Given the description of an element on the screen output the (x, y) to click on. 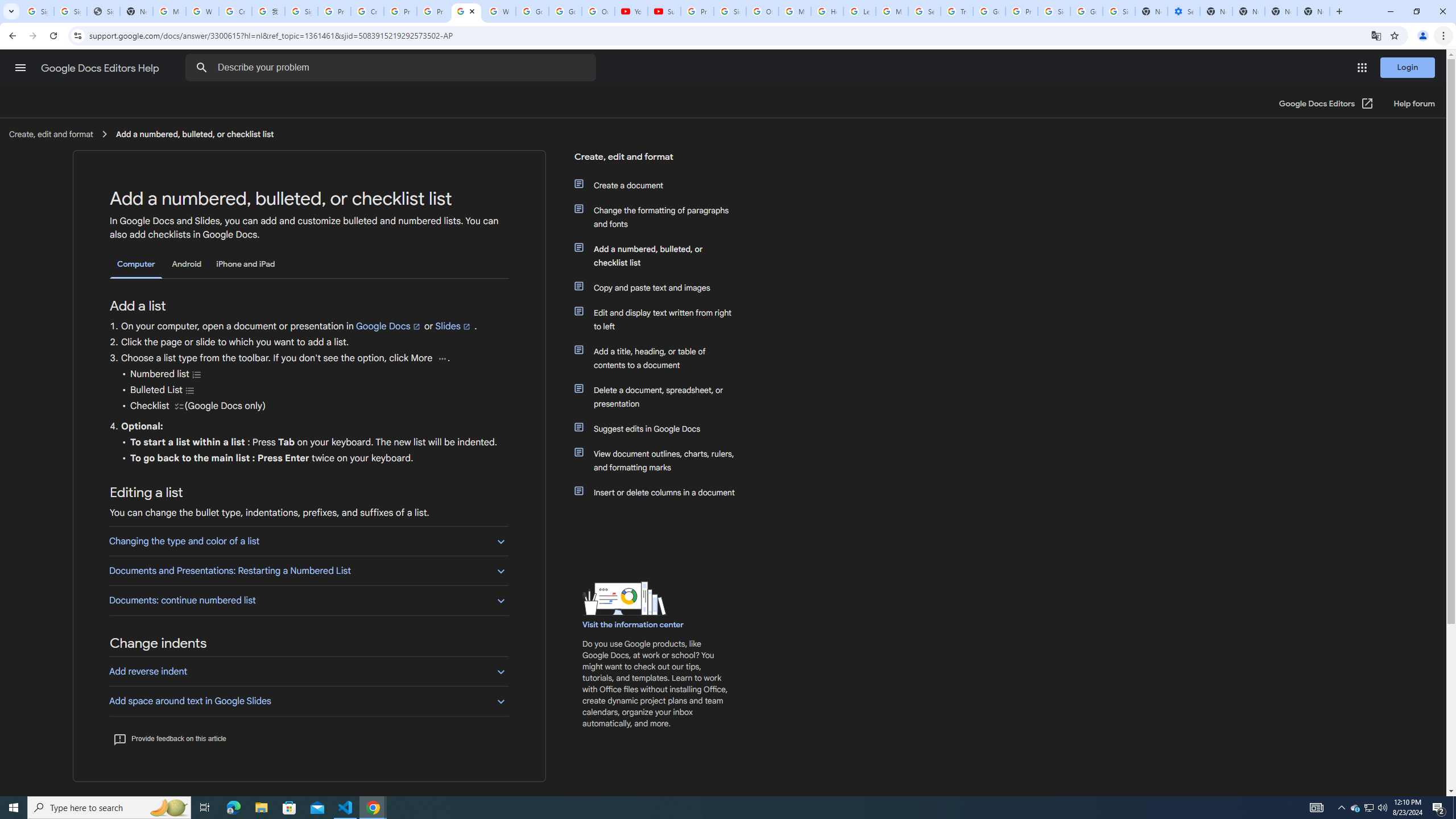
Computer (136, 264)
Main menu (20, 67)
Restore (1416, 11)
Documents: continue numbered list (308, 600)
Change the formatting of paragraphs and fonts (661, 217)
Sign in - Google Accounts (1118, 11)
Search our Doodle Library Collection - Google Doodles (924, 11)
Suggest edits in Google Docs (661, 428)
Create your Google Account (367, 11)
Add a title, heading, or table of contents to a document (661, 358)
Edit and display text written from right to left (661, 319)
Subscriptions - YouTube (663, 11)
Translate this page (1376, 35)
New Tab (1313, 11)
